Given the description of an element on the screen output the (x, y) to click on. 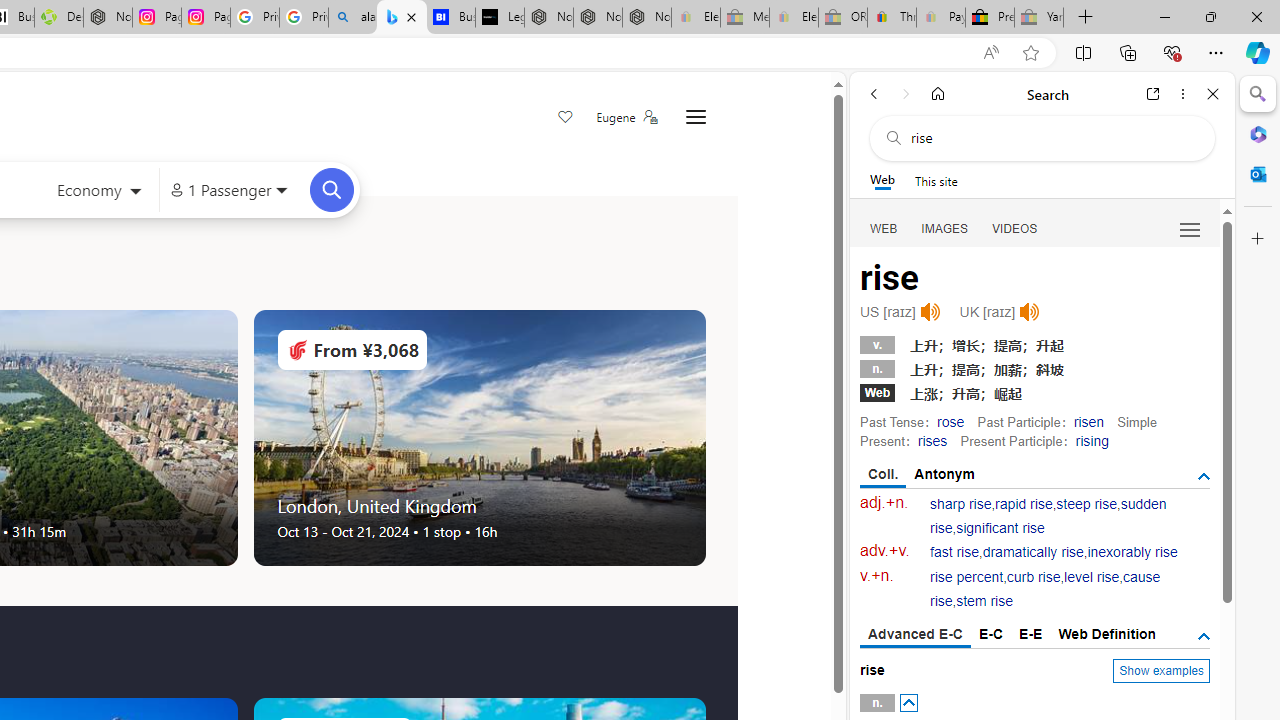
Search Filter, VIDEOS (1015, 228)
Save (565, 118)
Advanced E-C (915, 635)
E-E (1030, 633)
Search Filter, IMAGES (944, 228)
cause rise (1045, 589)
Airlines Logo (297, 349)
